Given the description of an element on the screen output the (x, y) to click on. 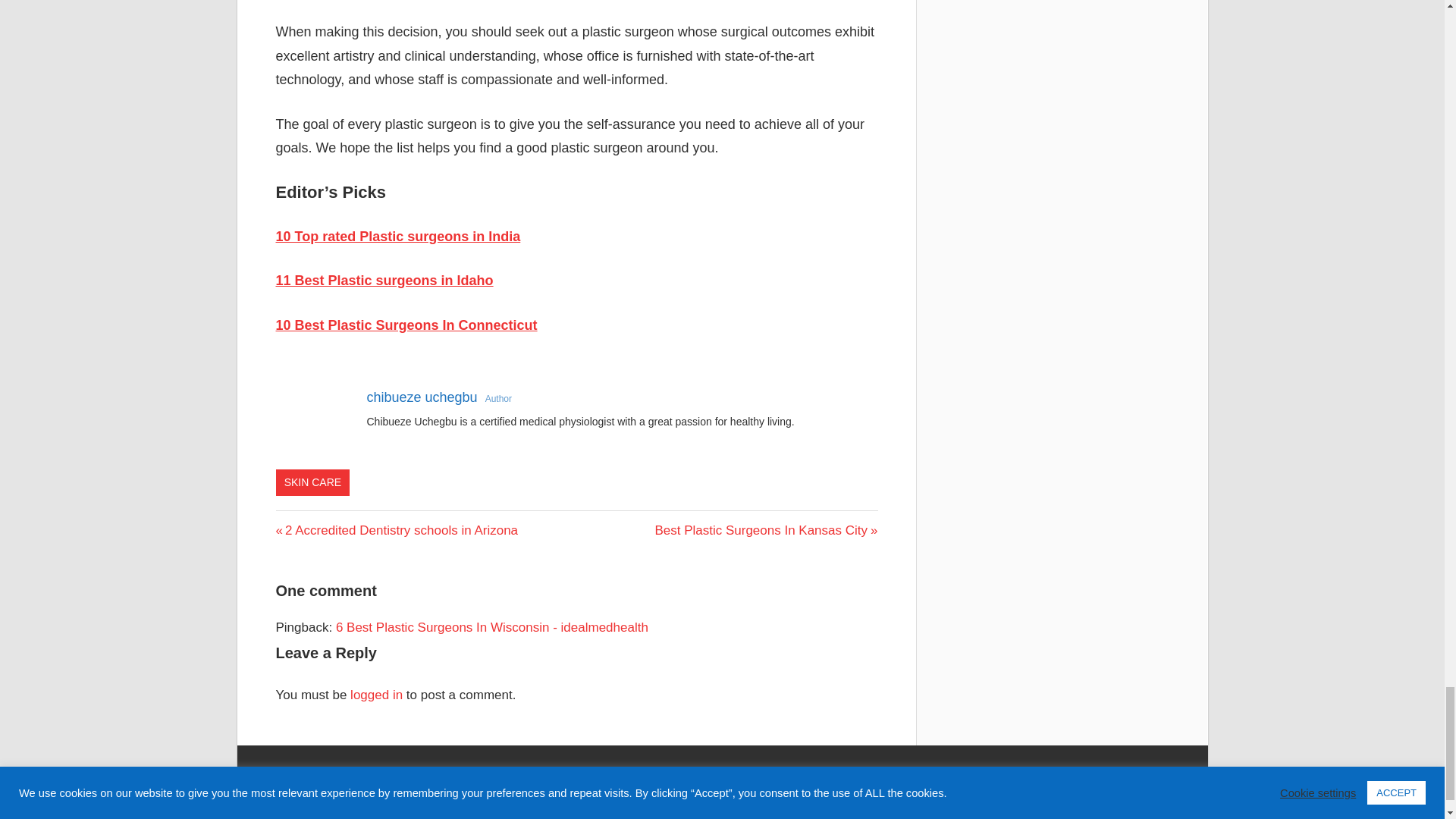
10 Best Plastic Surgeons In Connecticut (406, 324)
chibueze uchegbu (397, 530)
11 Best Plastic surgeons in Idaho (421, 396)
10 Top rated Plastic surgeons in India (384, 280)
SKIN CARE (765, 530)
